Given the description of an element on the screen output the (x, y) to click on. 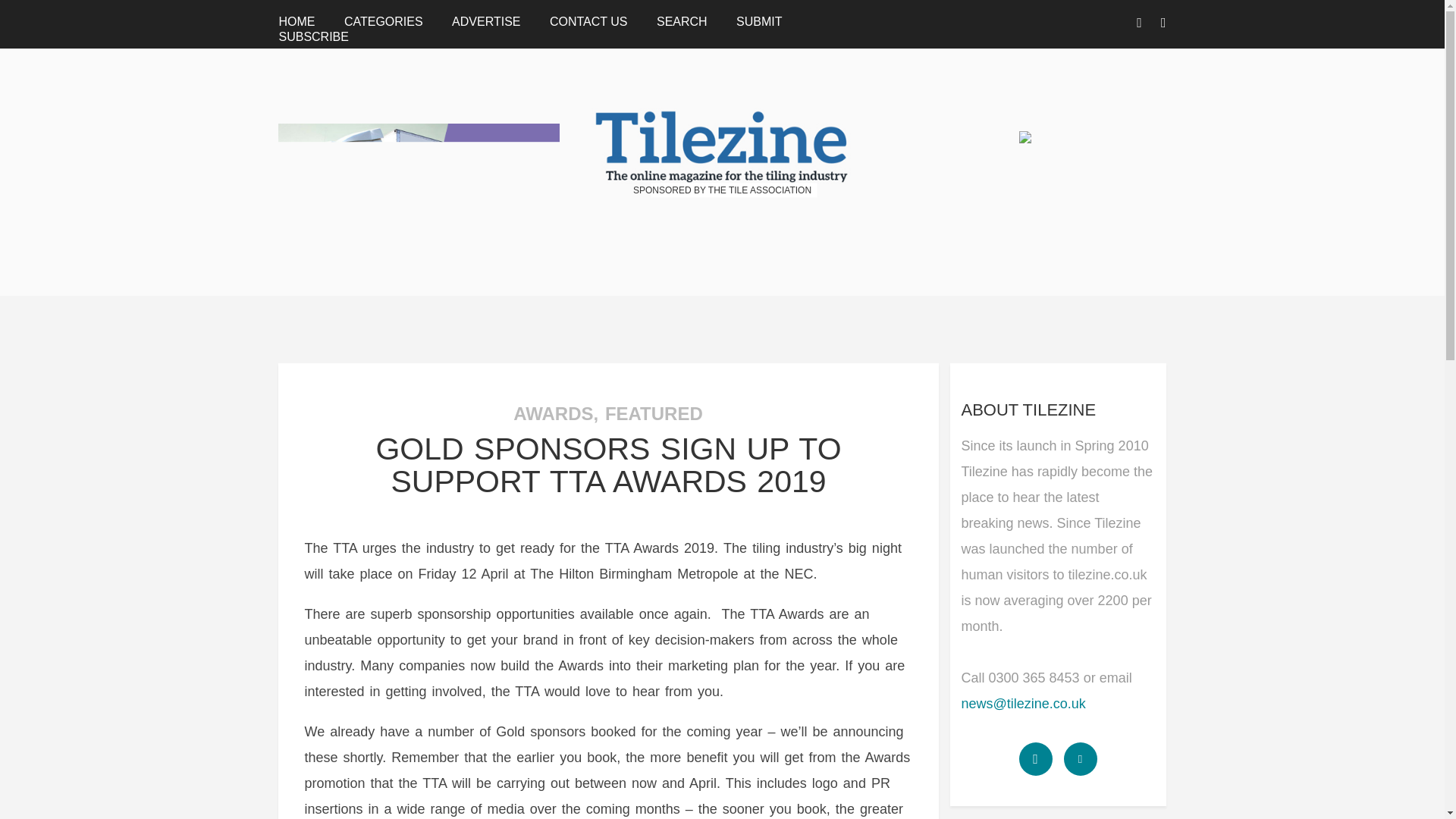
CATEGORIES (383, 21)
CONTACT US (588, 21)
SUBMIT (758, 21)
AWARDS (552, 413)
FEATURED (654, 413)
HOME (296, 21)
SUBSCRIBE (312, 37)
ADVERTISE (485, 21)
SEARCH (681, 21)
